Given the description of an element on the screen output the (x, y) to click on. 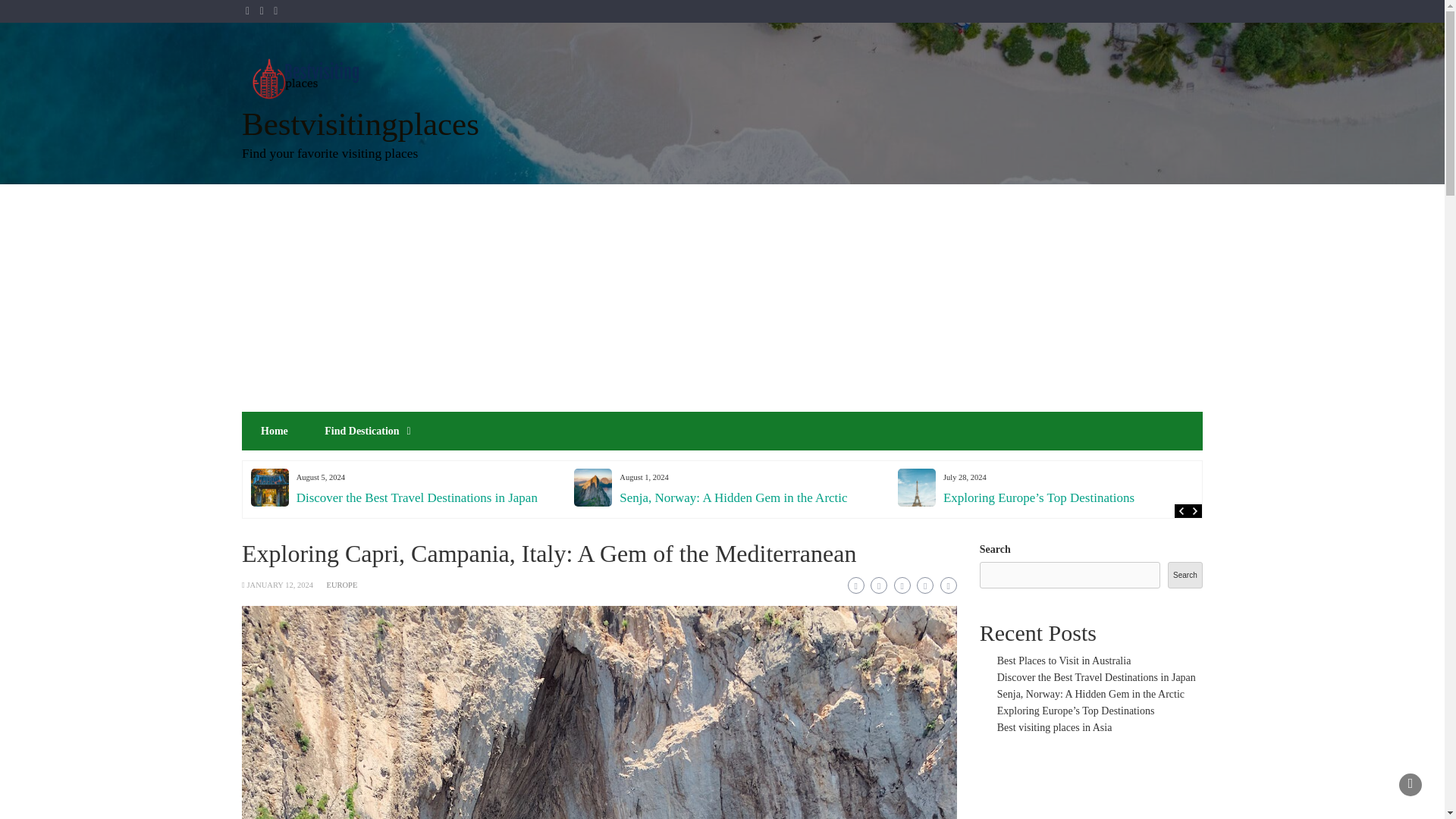
Find Destication (360, 430)
Search (1184, 574)
Bestvisitingplaces (360, 123)
Senja, Norway: A Hidden Gem in the Arctic (733, 497)
Discover the Best Travel Destinations in Japan (417, 497)
Home (274, 430)
JANUARY 12, 2024 (279, 584)
EUROPE (342, 584)
